Given the description of an element on the screen output the (x, y) to click on. 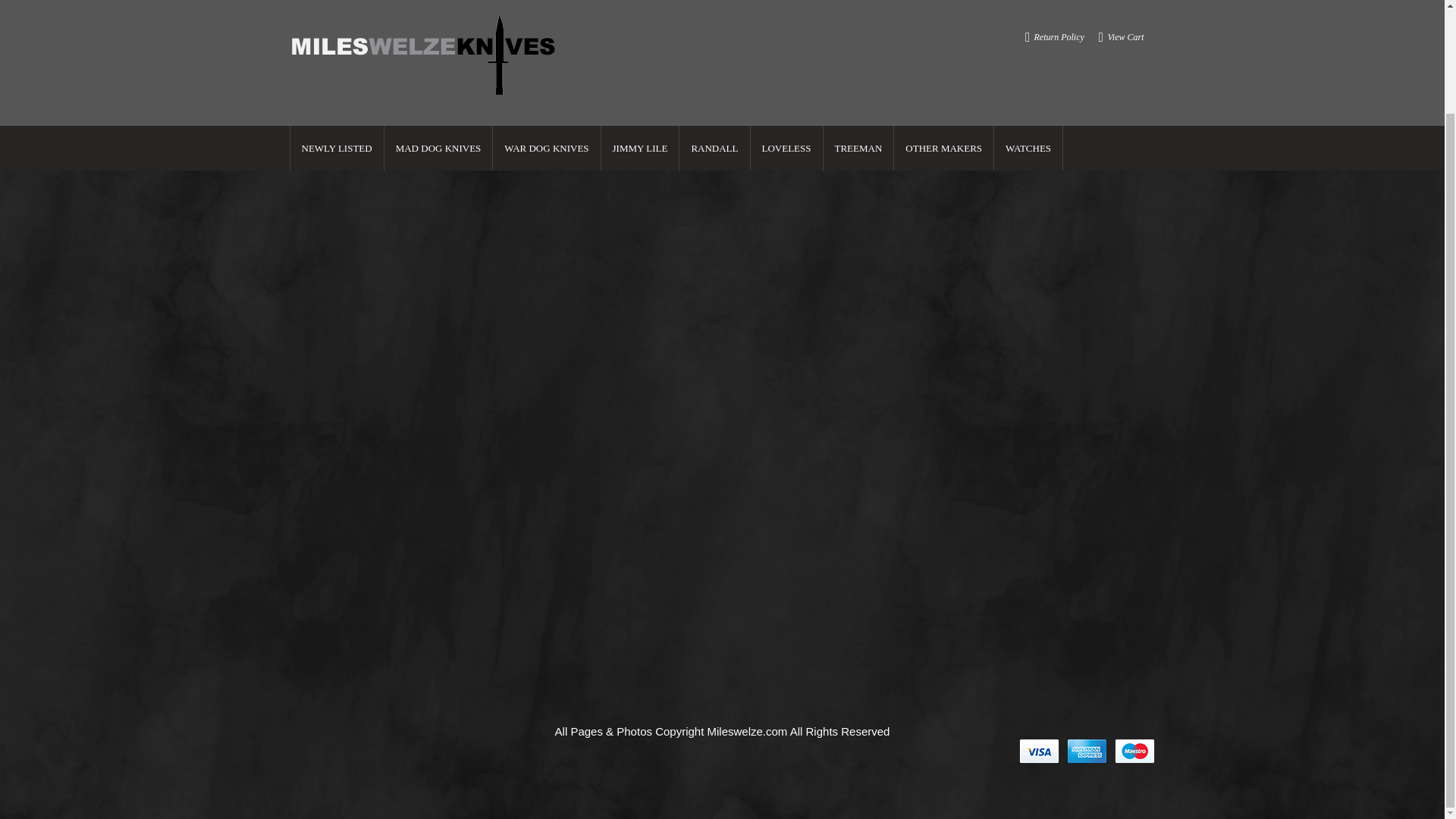
MAD DOG KNIVES (438, 26)
payment (1086, 751)
NEWLY LISTED (336, 26)
WAR DOG KNIVES (546, 26)
JIMMY LILE (640, 26)
